Given the description of an element on the screen output the (x, y) to click on. 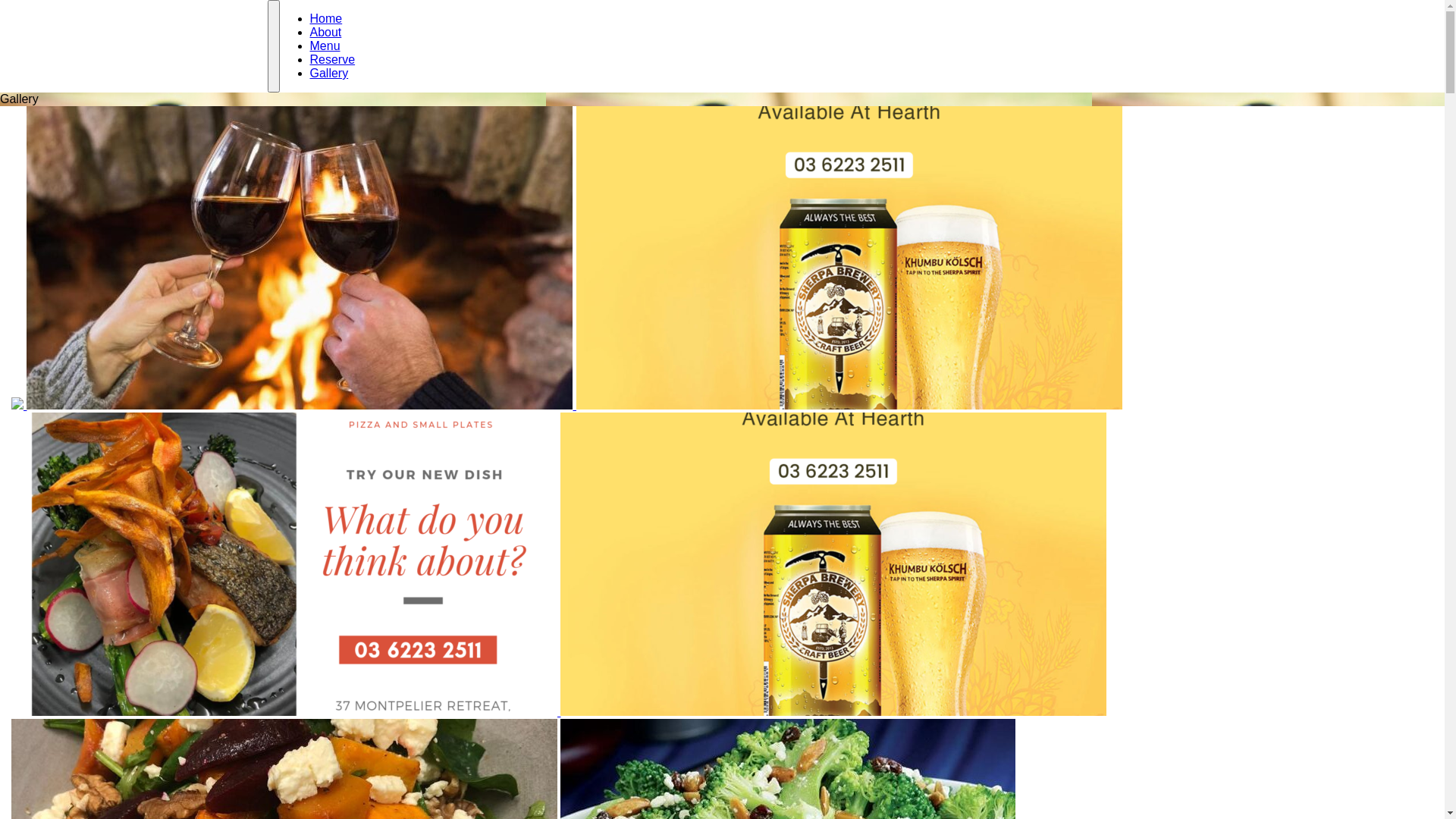
Menu Element type: text (324, 45)
About Element type: text (325, 31)
Home Element type: text (325, 18)
Reserve Element type: text (331, 59)
Gallery Element type: text (328, 72)
